Given the description of an element on the screen output the (x, y) to click on. 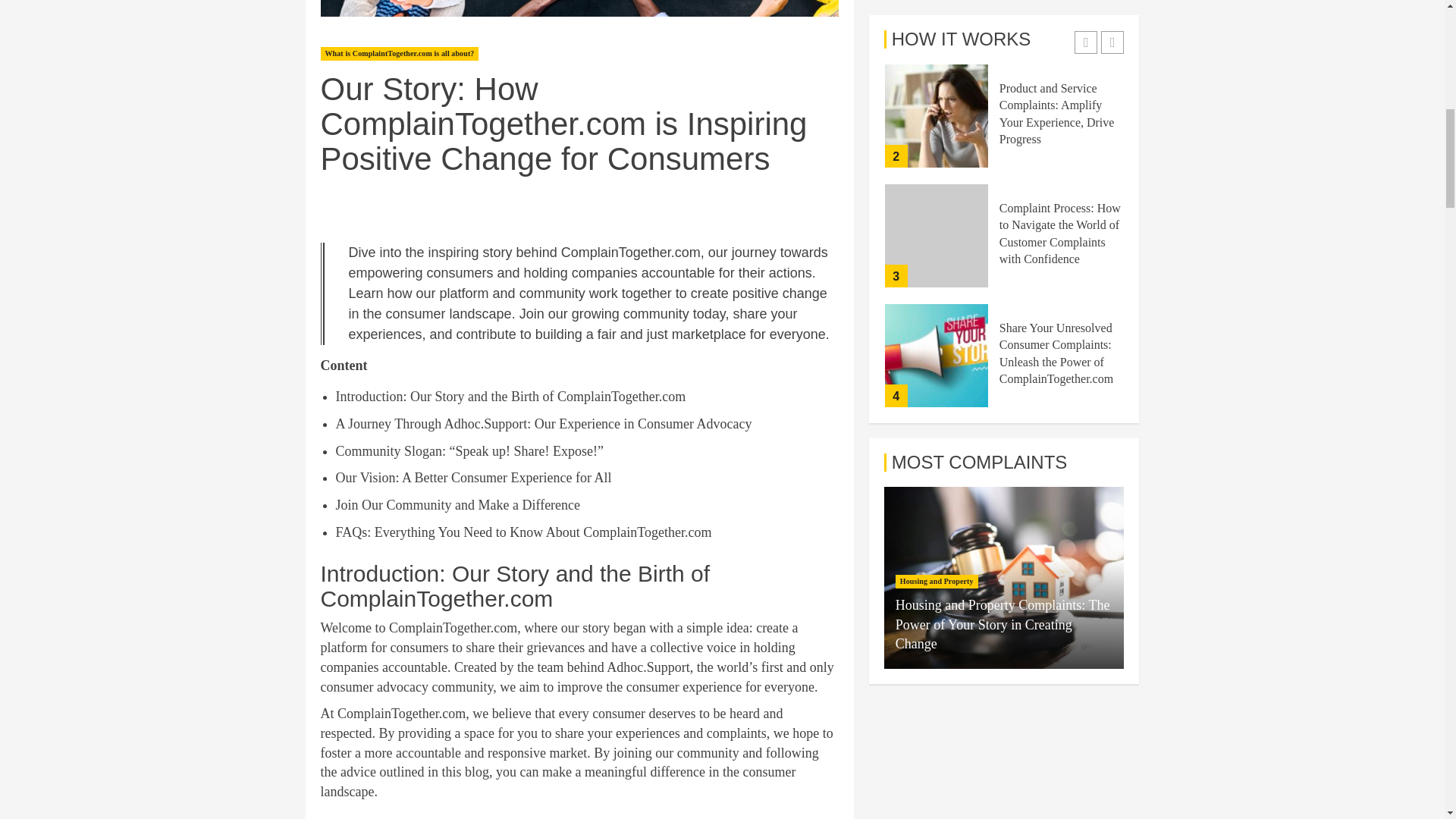
What is ComplaintTogether.com is all about? (399, 53)
